Given the description of an element on the screen output the (x, y) to click on. 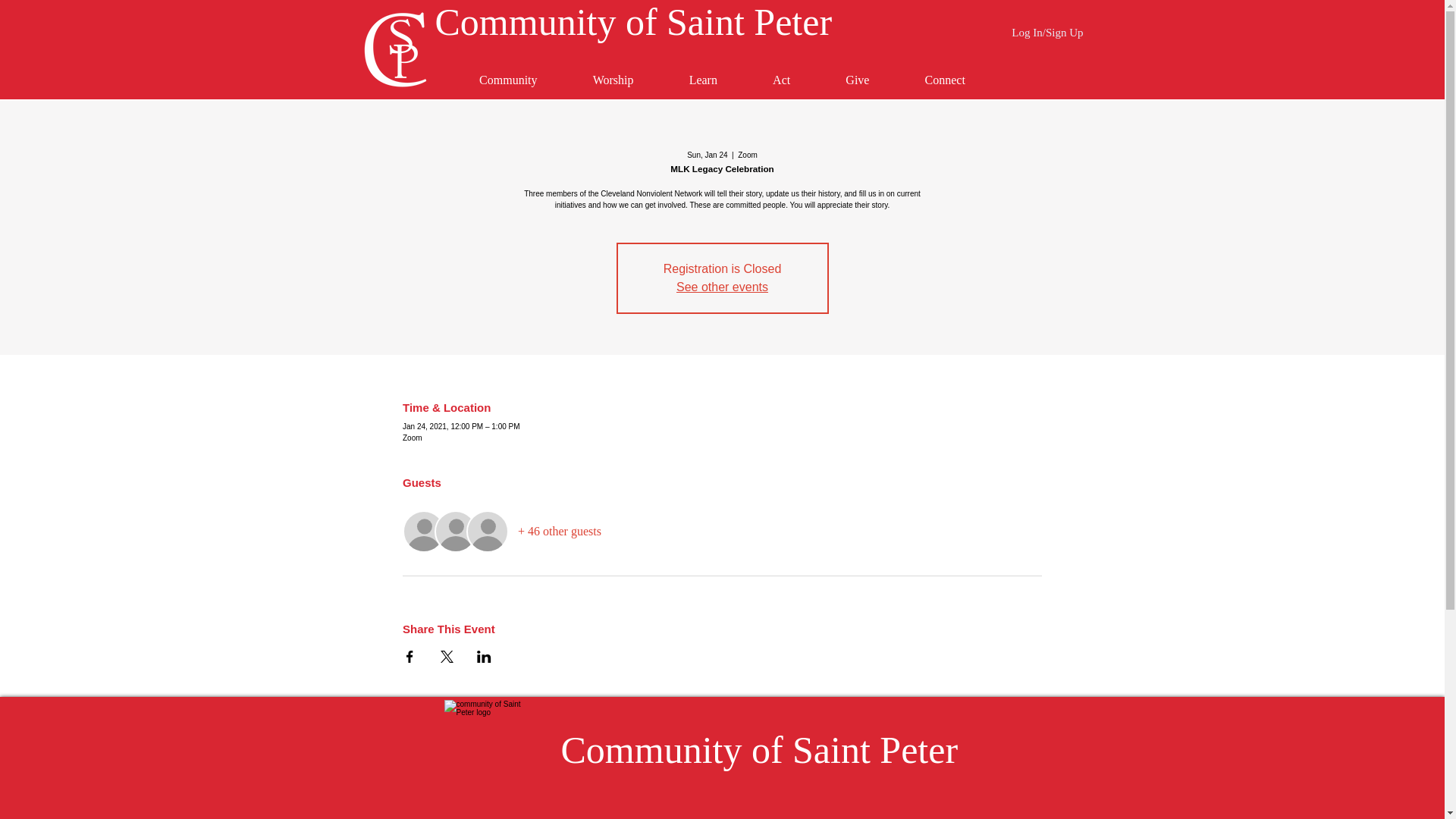
Act (781, 79)
Connect (944, 79)
See other events (722, 286)
Worship (612, 79)
Learn (702, 79)
Community (508, 79)
Give (857, 79)
